Given the description of an element on the screen output the (x, y) to click on. 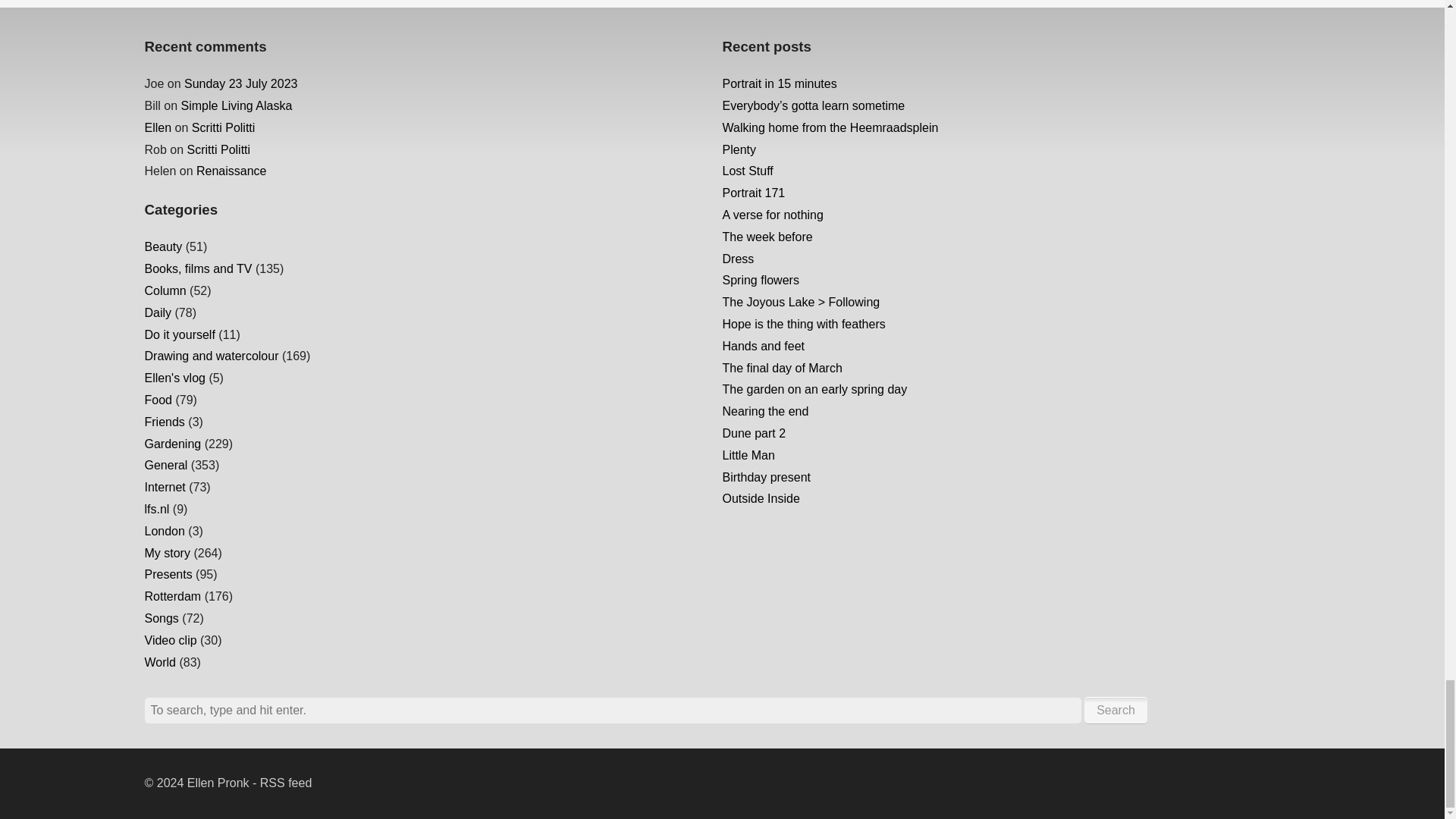
Books, films and TV (197, 268)
Sunday 23 July 2023 (240, 83)
Presents (168, 574)
Daily (157, 312)
Renaissance (231, 170)
Gardening (172, 443)
Food (157, 399)
Ellen's vlog (174, 377)
Beauty (163, 246)
General (165, 464)
Scritti Politti (218, 149)
Do it yourself (179, 334)
Column (165, 290)
Internet (164, 486)
Drawing and watercolour (211, 355)
